Given the description of an element on the screen output the (x, y) to click on. 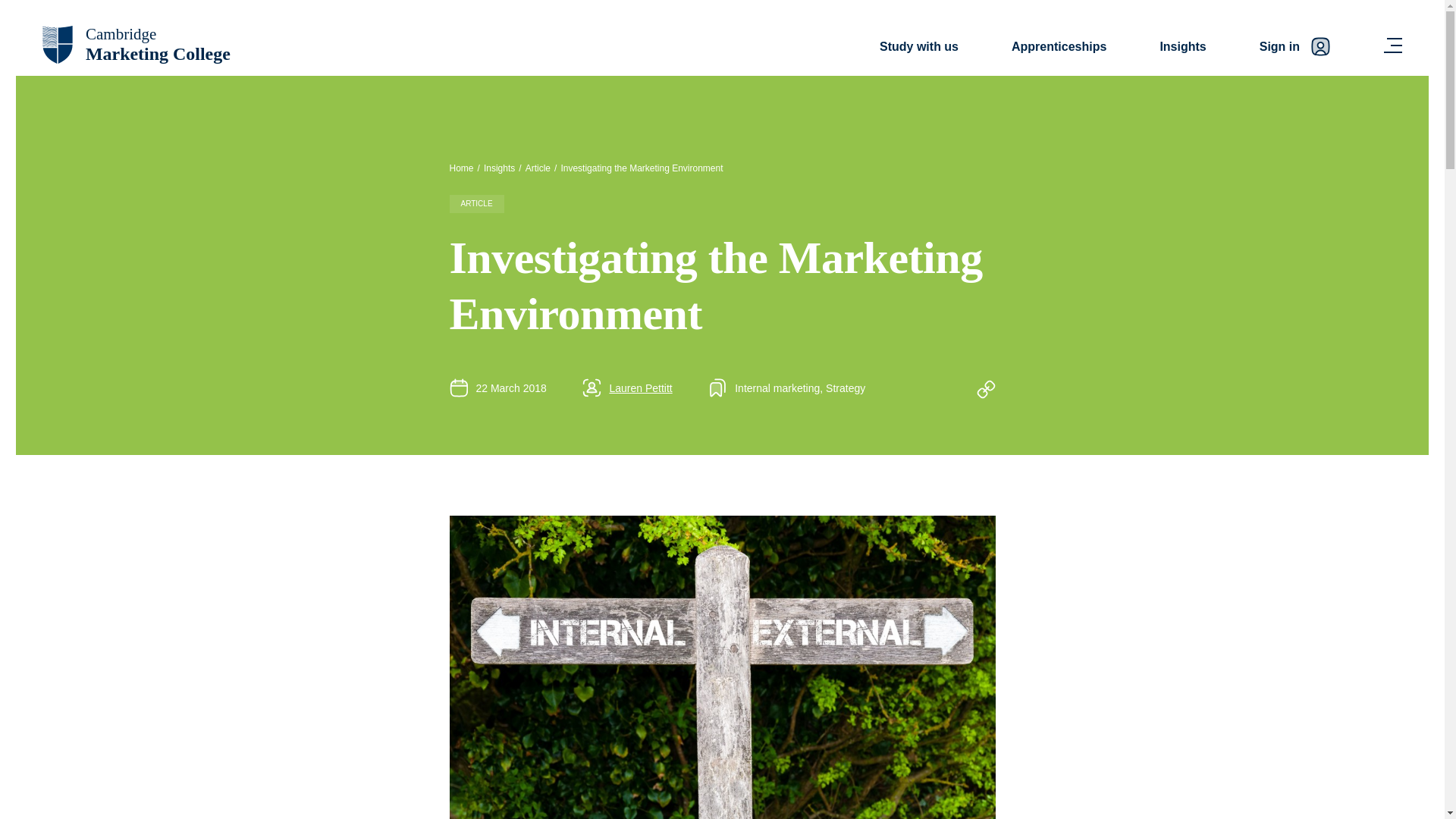
Apprenticeships (1058, 47)
Article (537, 167)
Study with us (918, 47)
Copy page URL (985, 388)
Sign in (1294, 47)
Home (460, 167)
Insights (136, 43)
Insights (1181, 47)
Investigating the Marketing Environment (499, 167)
Cambridge Marketing College (641, 167)
